Given the description of an element on the screen output the (x, y) to click on. 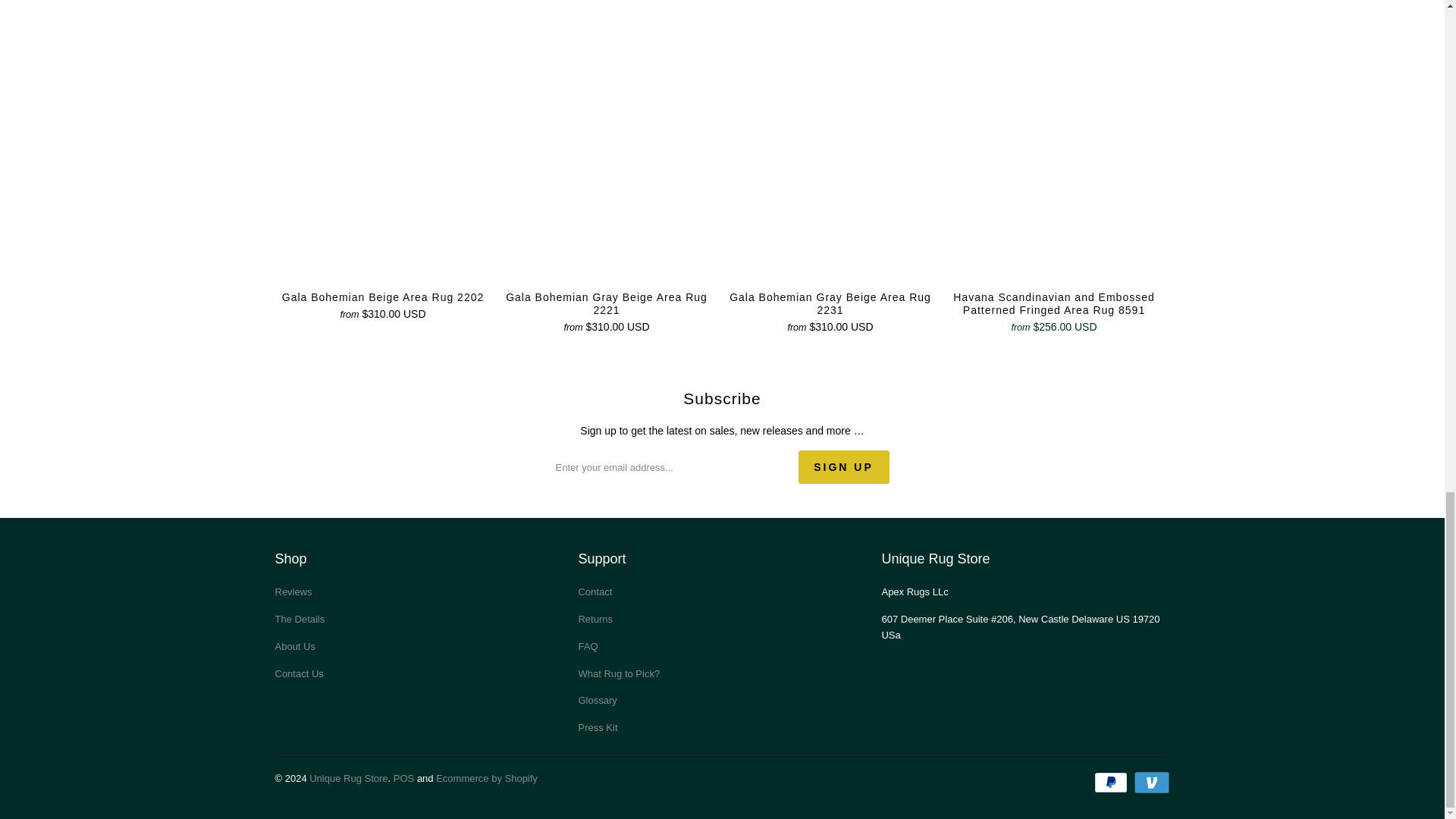
Sign Up (842, 467)
PayPal (1112, 782)
Venmo (1150, 782)
